Given the description of an element on the screen output the (x, y) to click on. 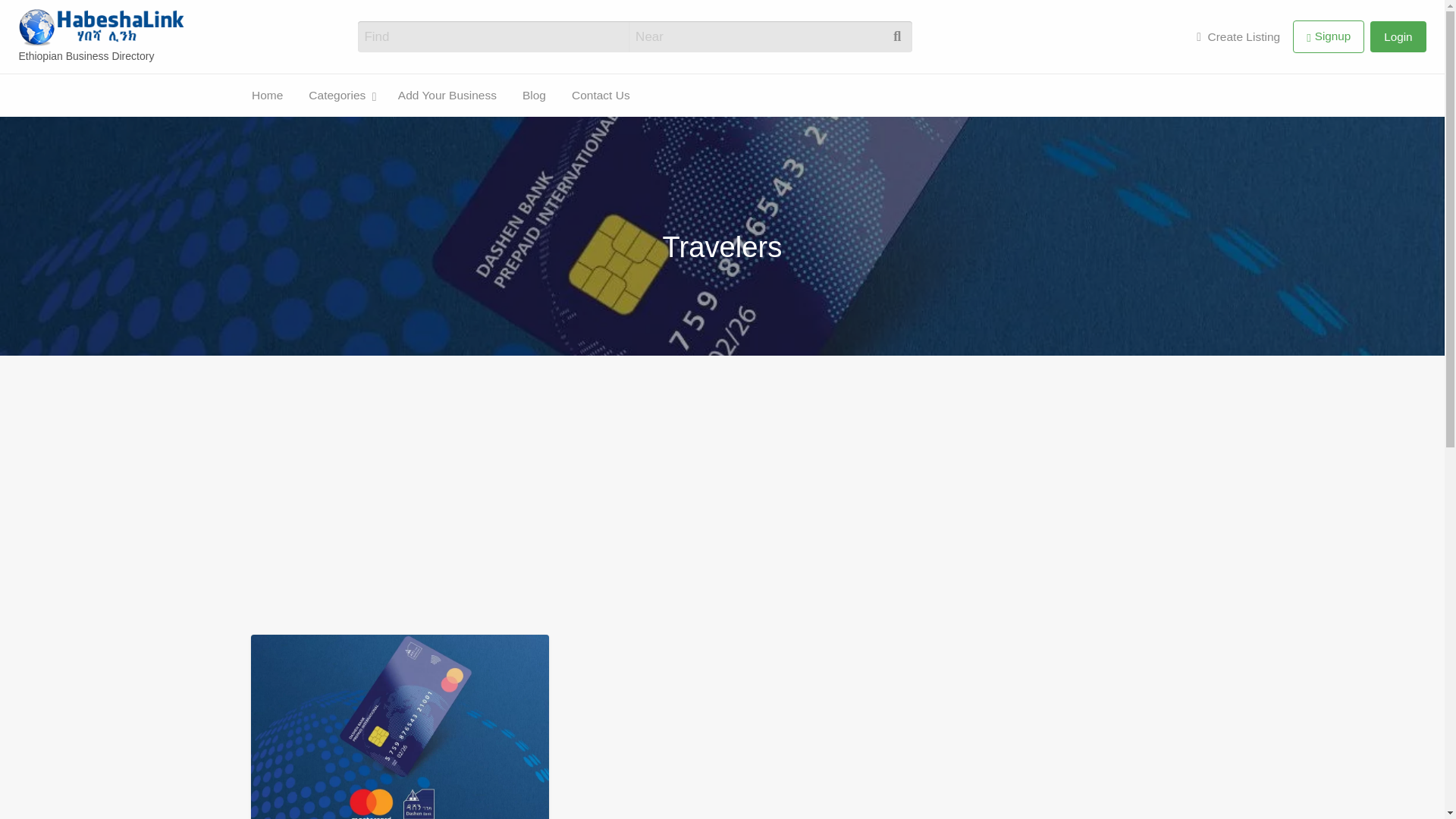
Search (30, 16)
